Given the description of an element on the screen output the (x, y) to click on. 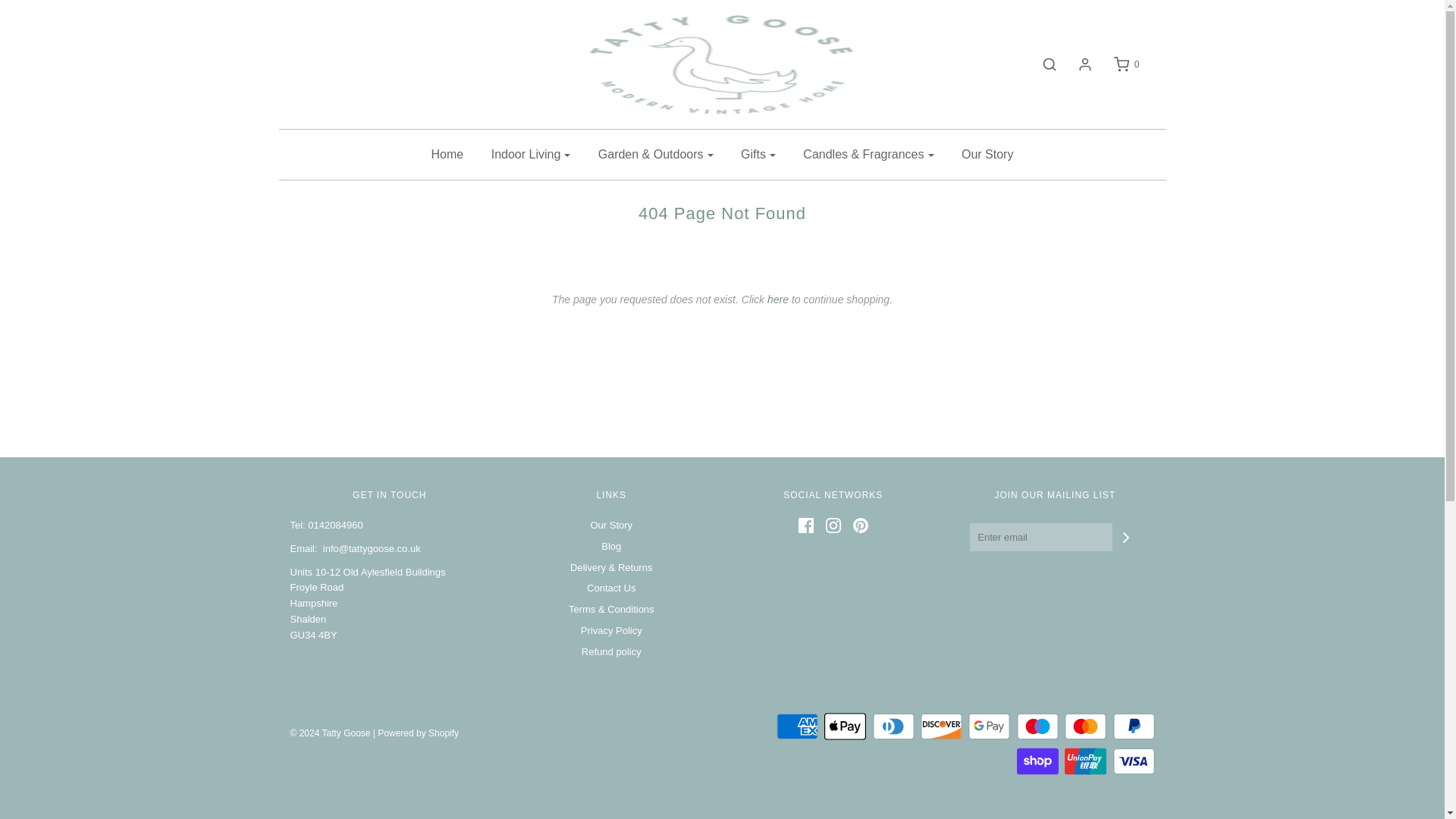
Discover (941, 726)
Instagram icon (833, 525)
Mastercard (1085, 726)
Google Pay (989, 726)
Facebook icon (805, 525)
Pinterest icon (860, 525)
Log in (1077, 64)
Union Pay (1085, 761)
PayPal (1133, 726)
Apple Pay (845, 726)
